Given the description of an element on the screen output the (x, y) to click on. 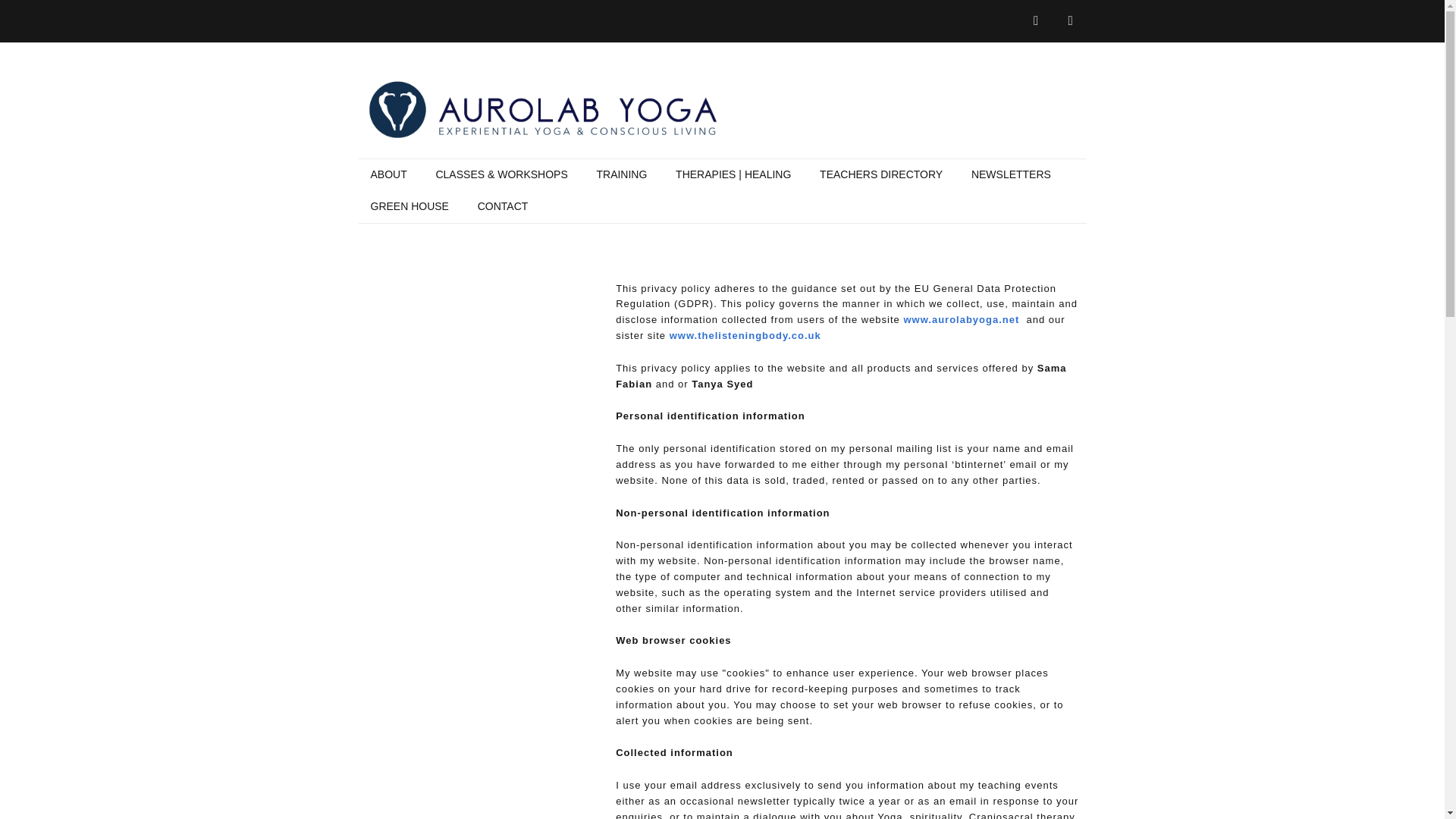
ABOUT (388, 174)
CONTACT (502, 206)
TEACHERS DIRECTORY (881, 174)
www.aurolabyoga.net (960, 319)
GREEN HOUSE (409, 206)
www.thelisteningbody.co.uk (745, 335)
NEWSLETTERS (1010, 174)
TRAINING (621, 174)
